Given the description of an element on the screen output the (x, y) to click on. 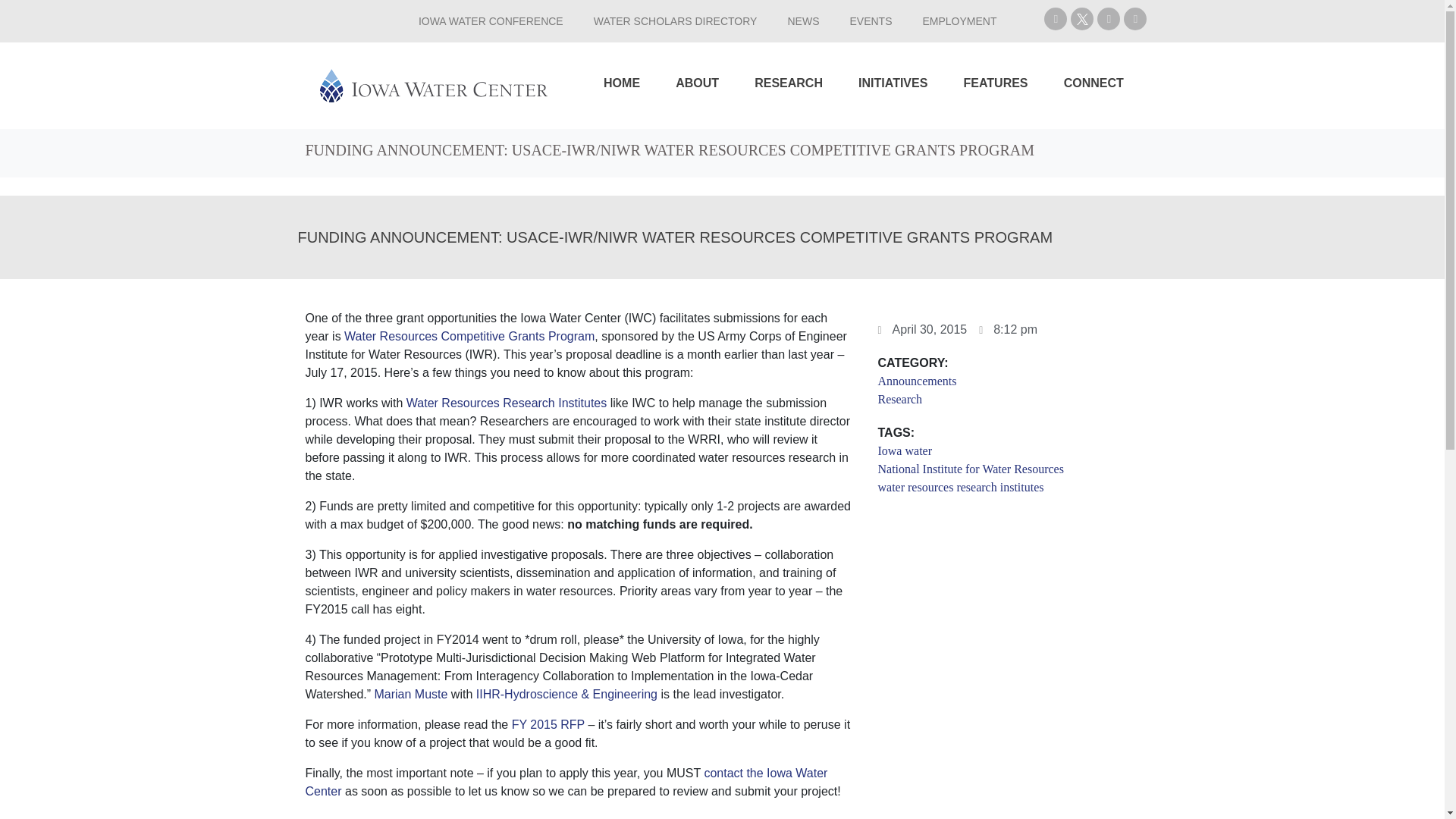
WATER SCHOLARS DIRECTORY (675, 21)
EMPLOYMENT (959, 21)
INITIATIVES (892, 82)
EVENTS (870, 21)
NEWS (802, 21)
CONNECT (1093, 82)
FEATURES (994, 82)
HOME (621, 82)
IOWA WATER CONFERENCE (490, 21)
ABOUT (697, 82)
